Given the description of an element on the screen output the (x, y) to click on. 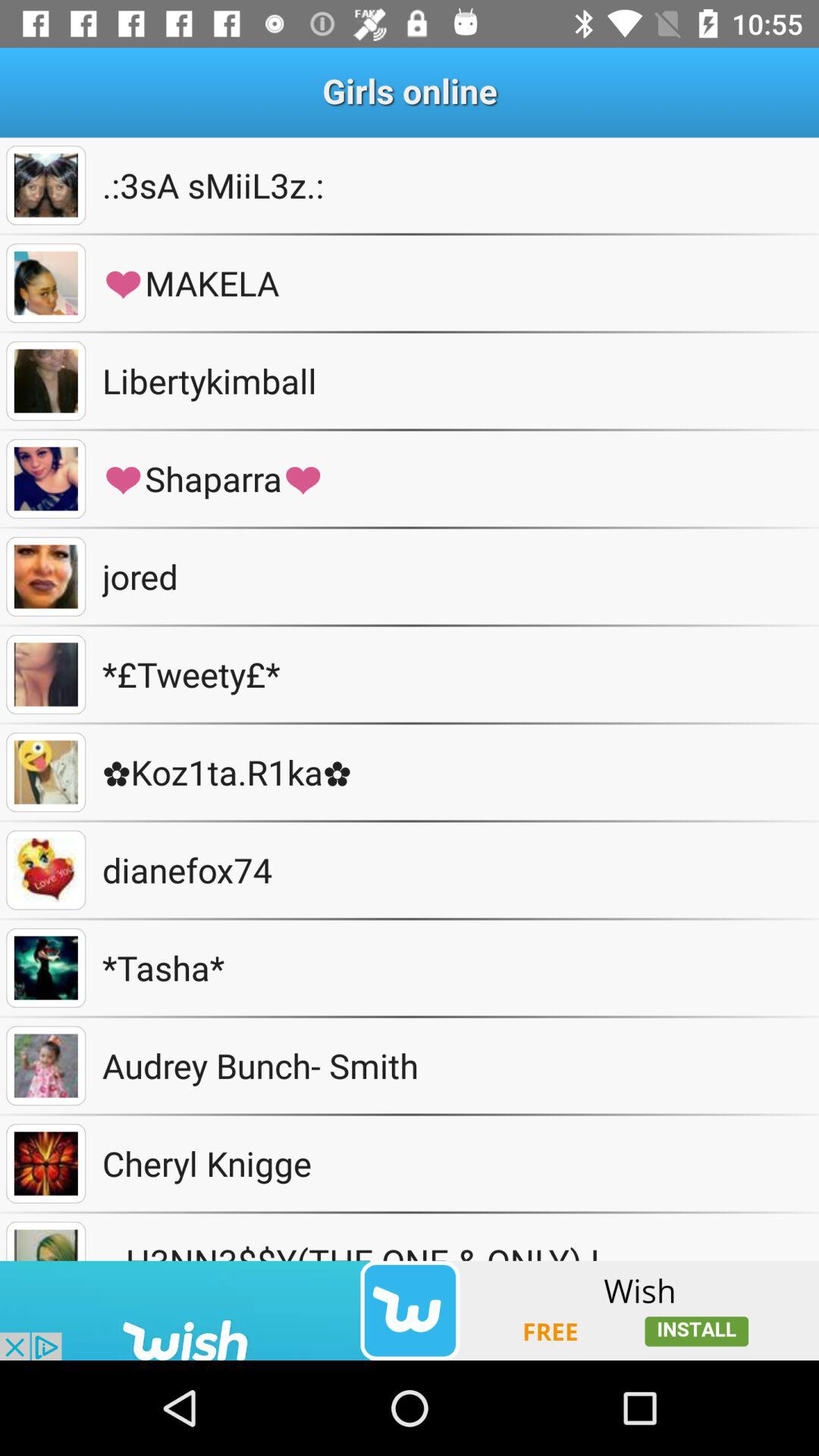
user name picture (45, 674)
